Given the description of an element on the screen output the (x, y) to click on. 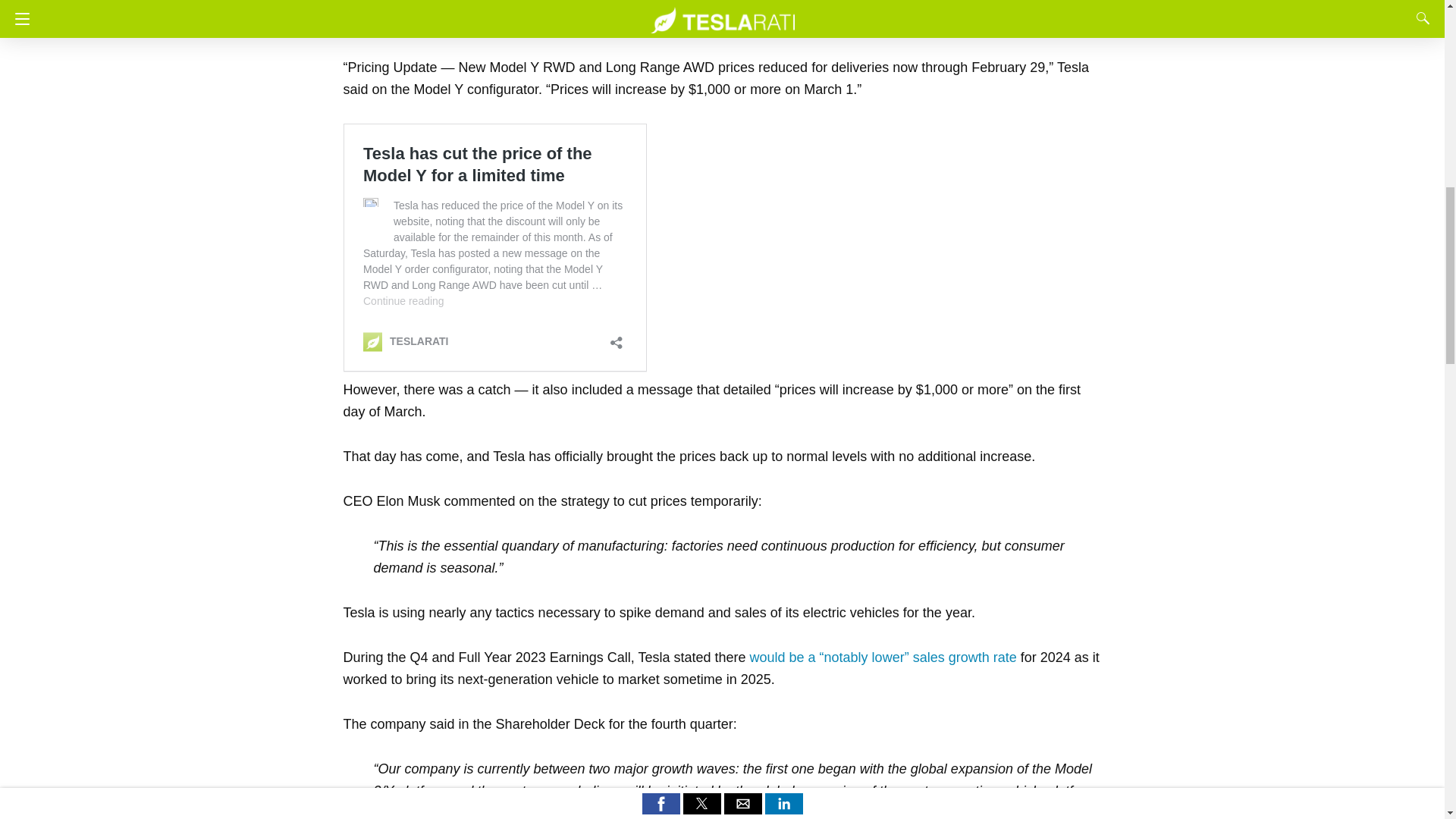
On February 10 (390, 4)
